Given the description of an element on the screen output the (x, y) to click on. 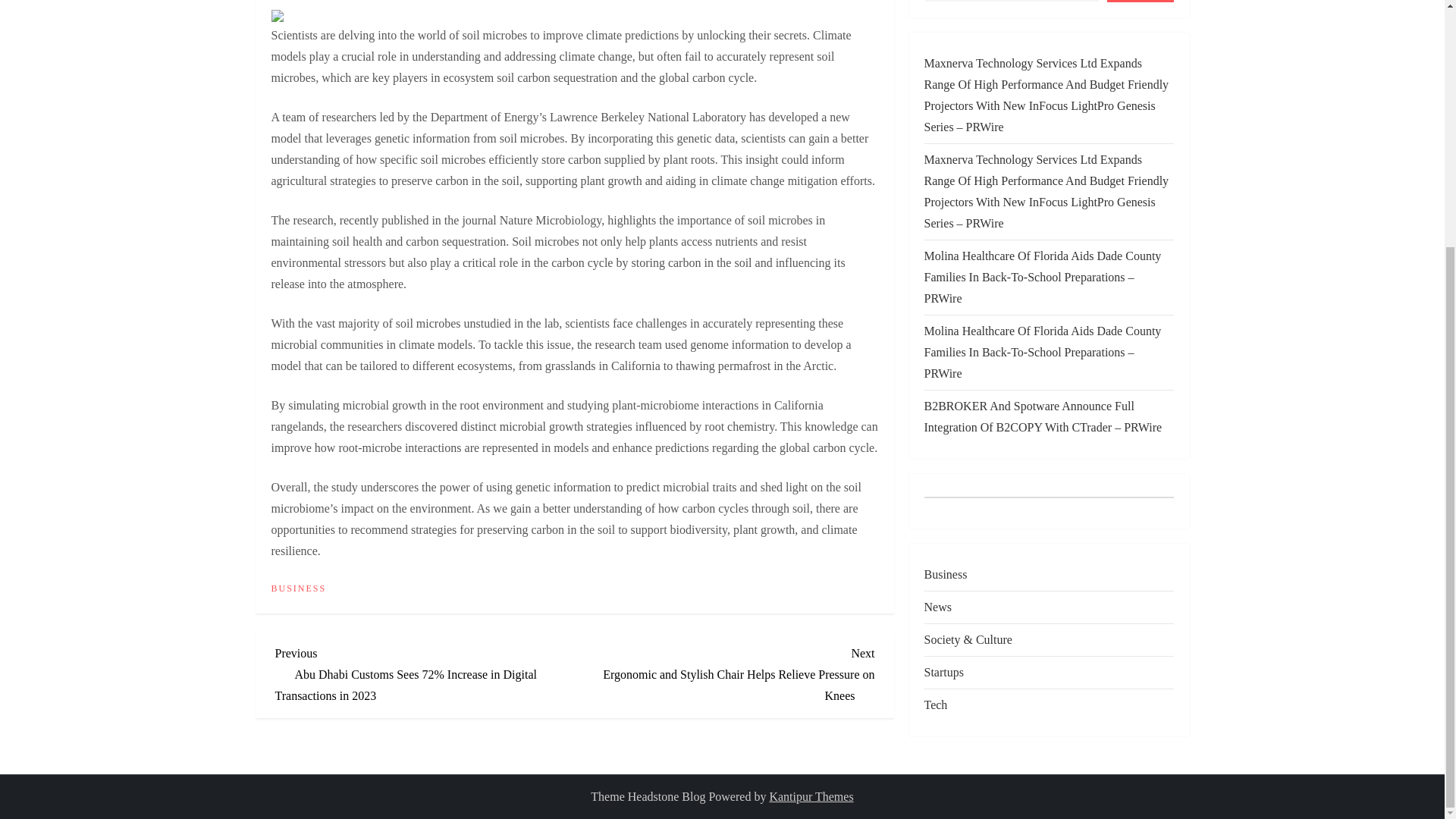
Kantipur Themes (810, 796)
Tech (935, 589)
News (936, 491)
Startups (942, 557)
BUSINESS (298, 589)
Business (944, 459)
